Given the description of an element on the screen output the (x, y) to click on. 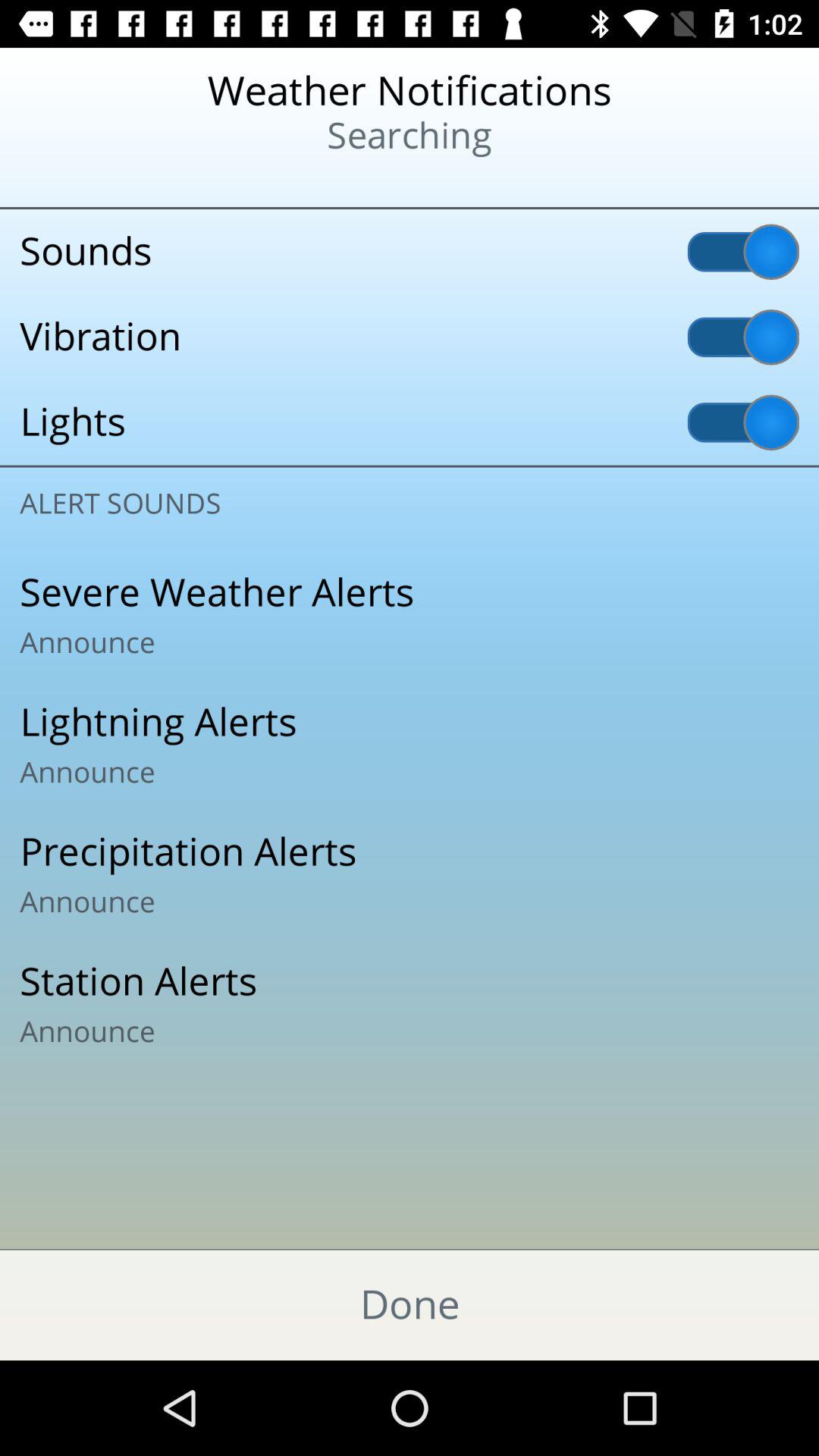
open the icon to the left of searching item (99, 182)
